Given the description of an element on the screen output the (x, y) to click on. 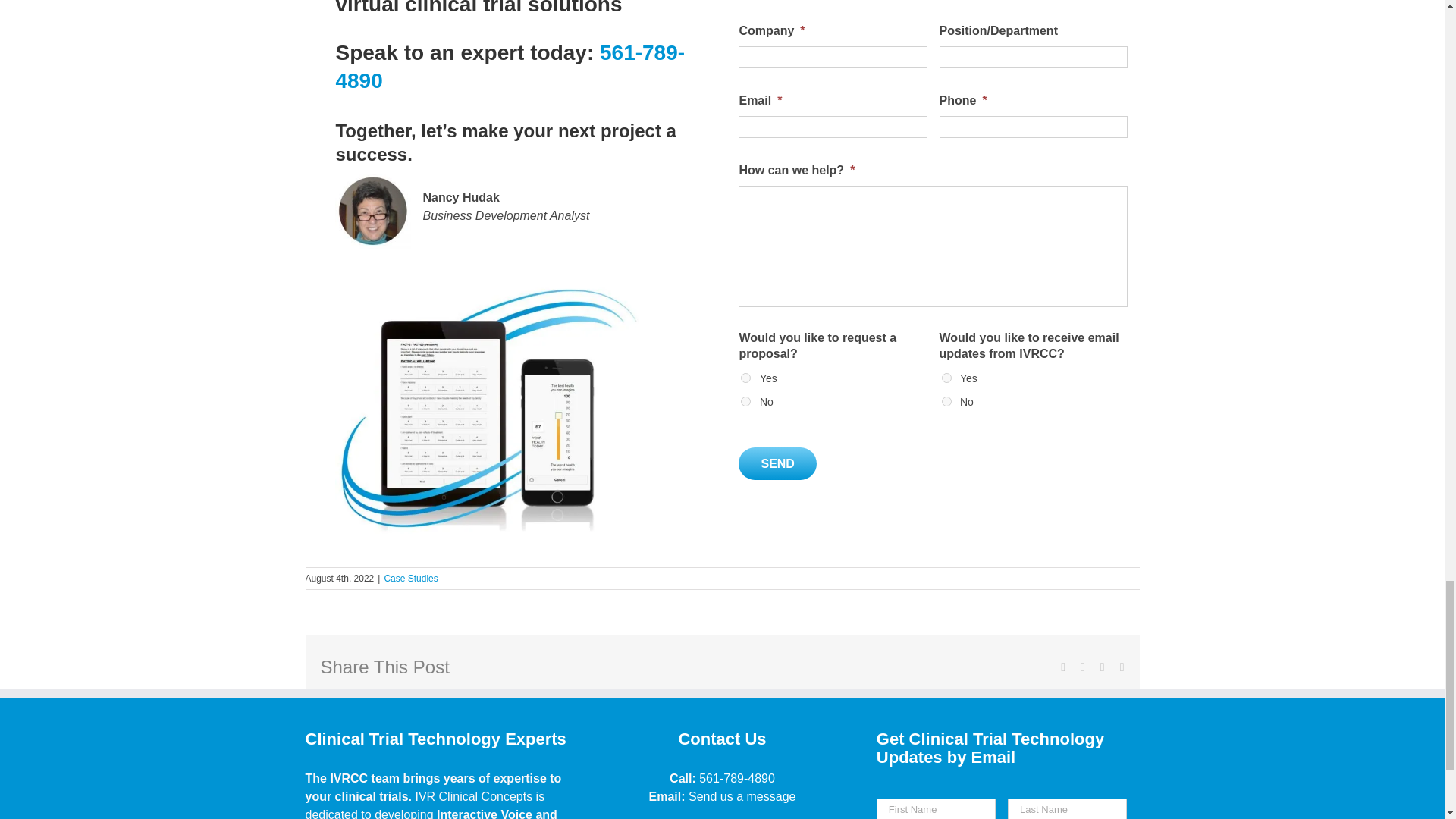
Yes (947, 378)
Send (776, 463)
No (947, 401)
Yes (746, 378)
No (746, 401)
